Given the description of an element on the screen output the (x, y) to click on. 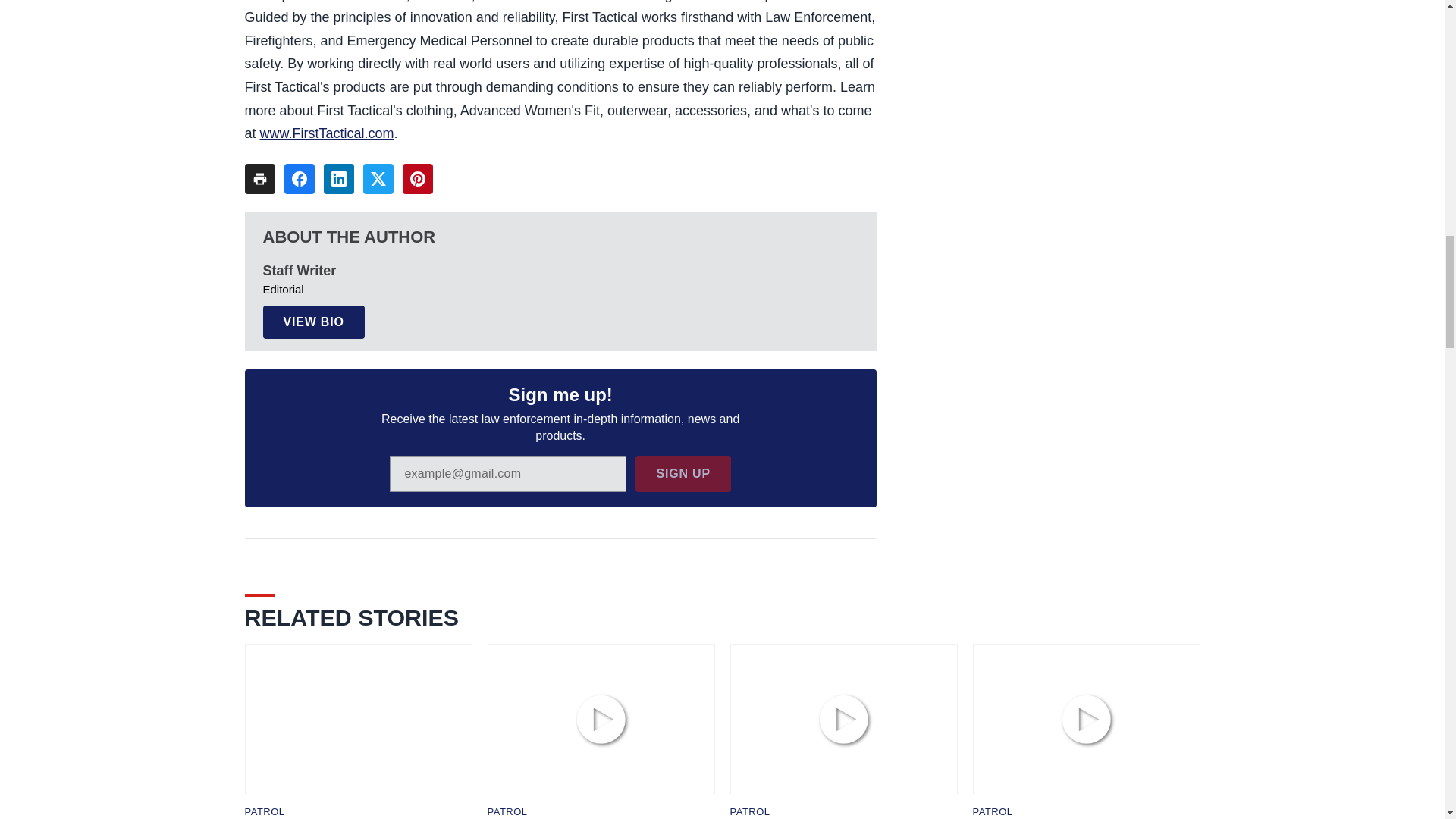
Share To print (259, 178)
Share To facebook (298, 178)
Share To pinterest (416, 178)
Share To twitter (377, 178)
Share To linkedin (338, 178)
